Given the description of an element on the screen output the (x, y) to click on. 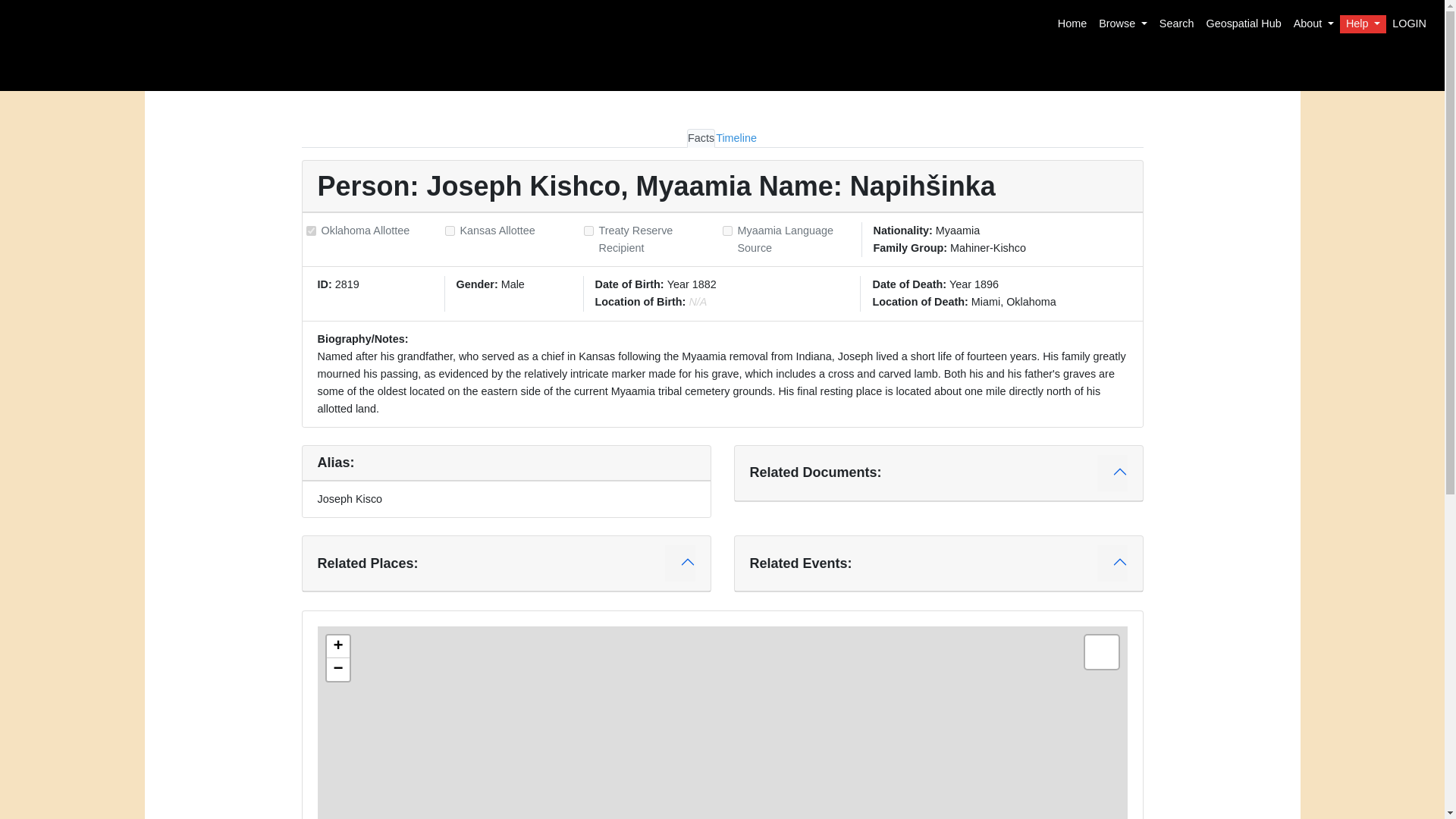
on (449, 230)
Zoom in (337, 646)
on (727, 230)
LOGIN (1409, 23)
About (1313, 23)
Facts (700, 138)
Geospatial Hub (1243, 23)
Zoom out (337, 669)
Search (1176, 23)
Help (1362, 23)
Browse (1123, 23)
on (310, 230)
on (588, 230)
Home (1072, 23)
Timeline (735, 138)
